Given the description of an element on the screen output the (x, y) to click on. 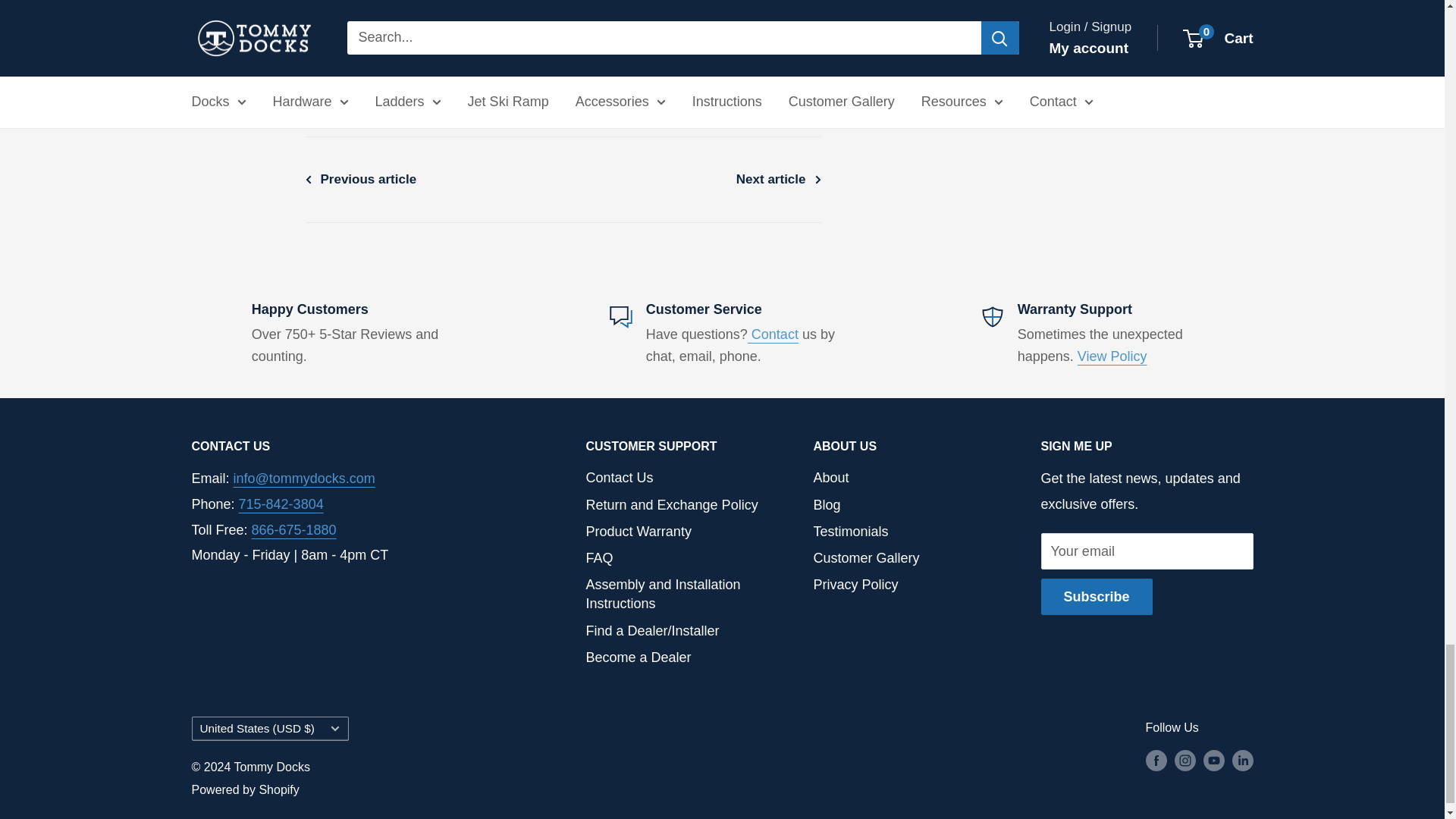
Policies (1112, 355)
tel:715-842-3804 (280, 503)
Contact Us (772, 334)
tel: 866-675-1880 (293, 529)
